Given the description of an element on the screen output the (x, y) to click on. 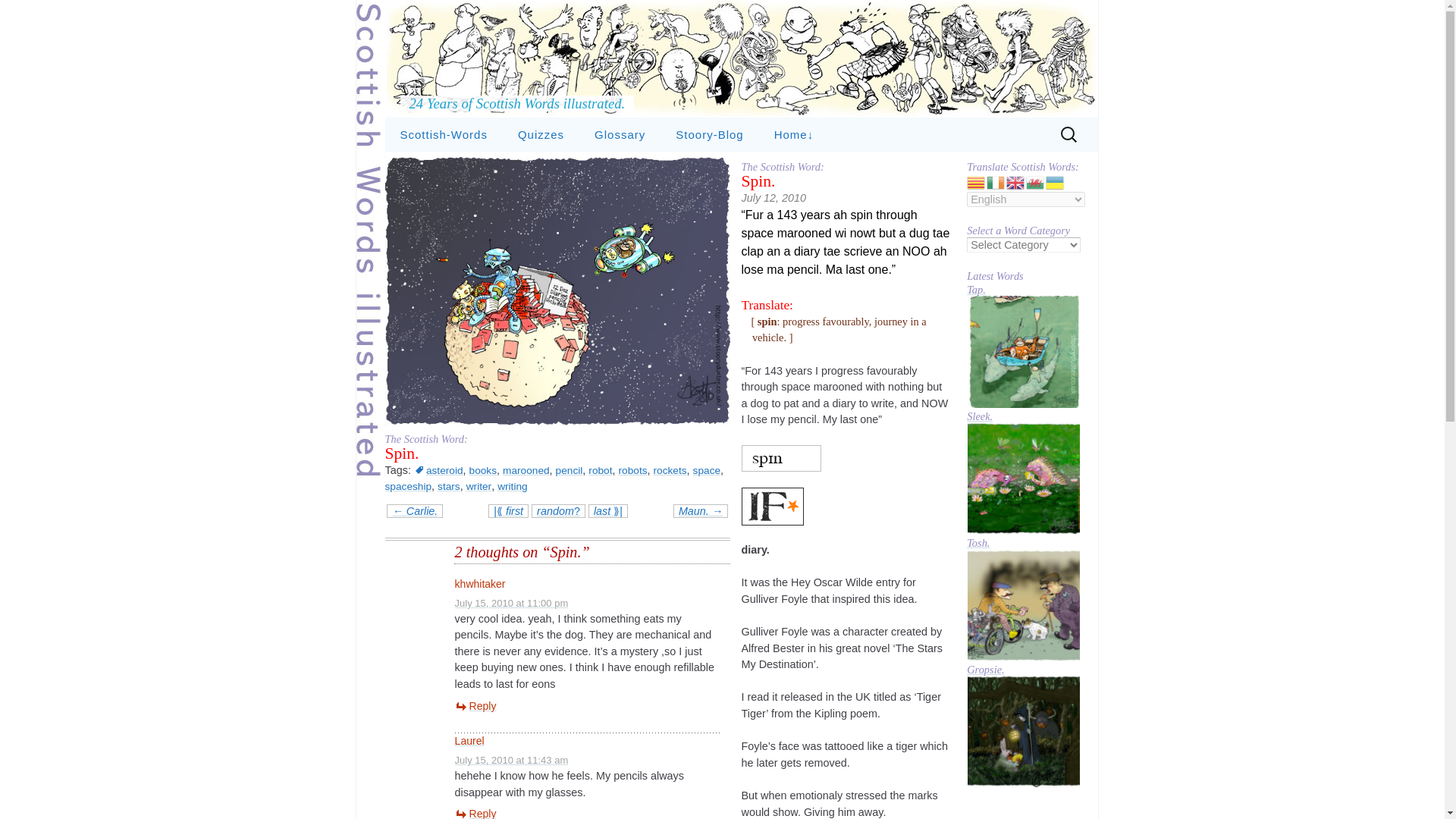
Search (18, 13)
English (1016, 182)
Shop (834, 168)
Laurel (469, 740)
pencil (569, 470)
Go to the very first word. (507, 510)
random? (558, 510)
spaceship (408, 486)
Permanent Link to Sleek. (1023, 477)
Go to a word at random. (558, 510)
